Given the description of an element on the screen output the (x, y) to click on. 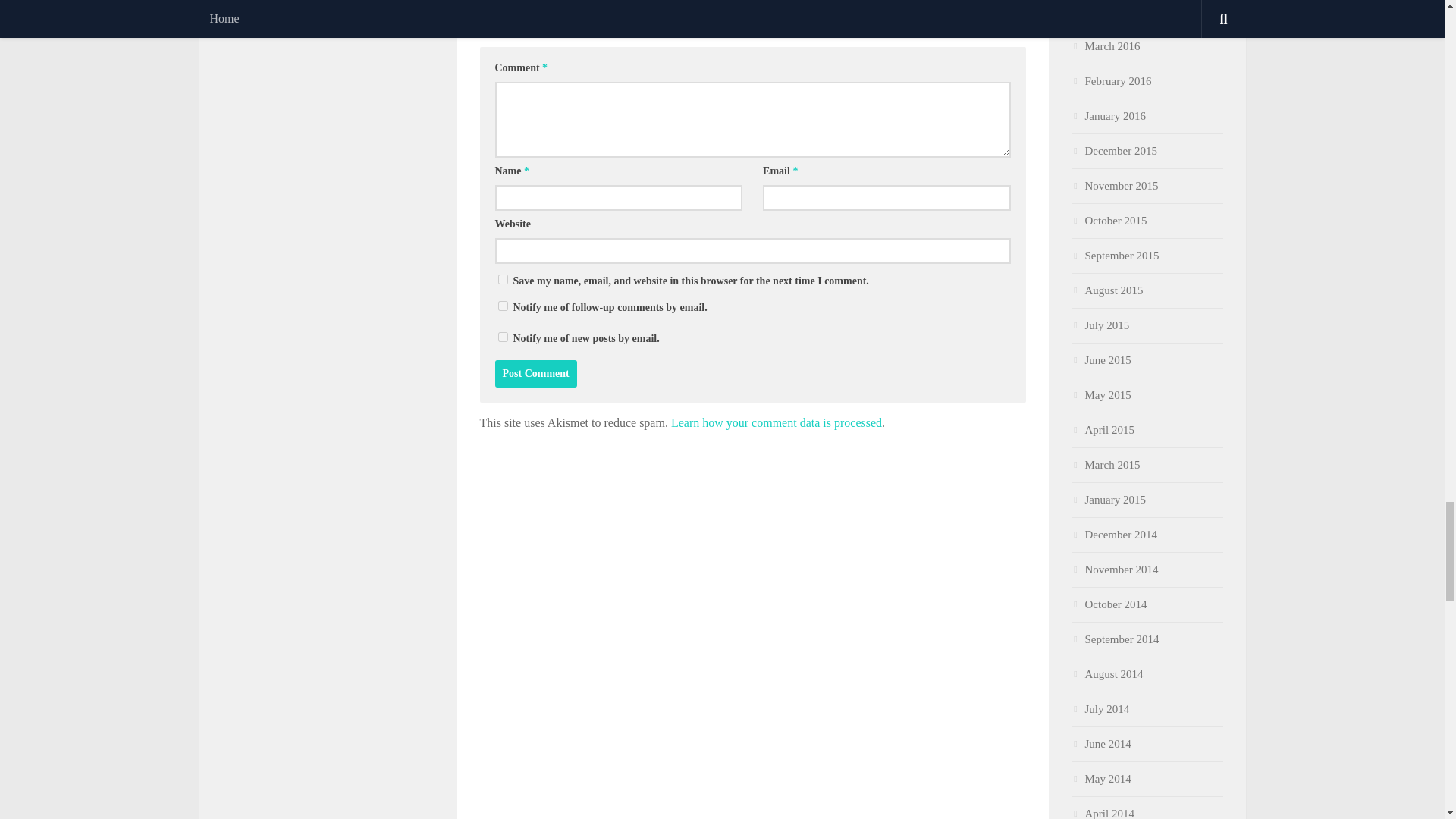
Post Comment (535, 373)
subscribe (501, 337)
Post Comment (535, 373)
subscribe (501, 306)
yes (501, 279)
Learn how your comment data is processed (776, 422)
